Given the description of an element on the screen output the (x, y) to click on. 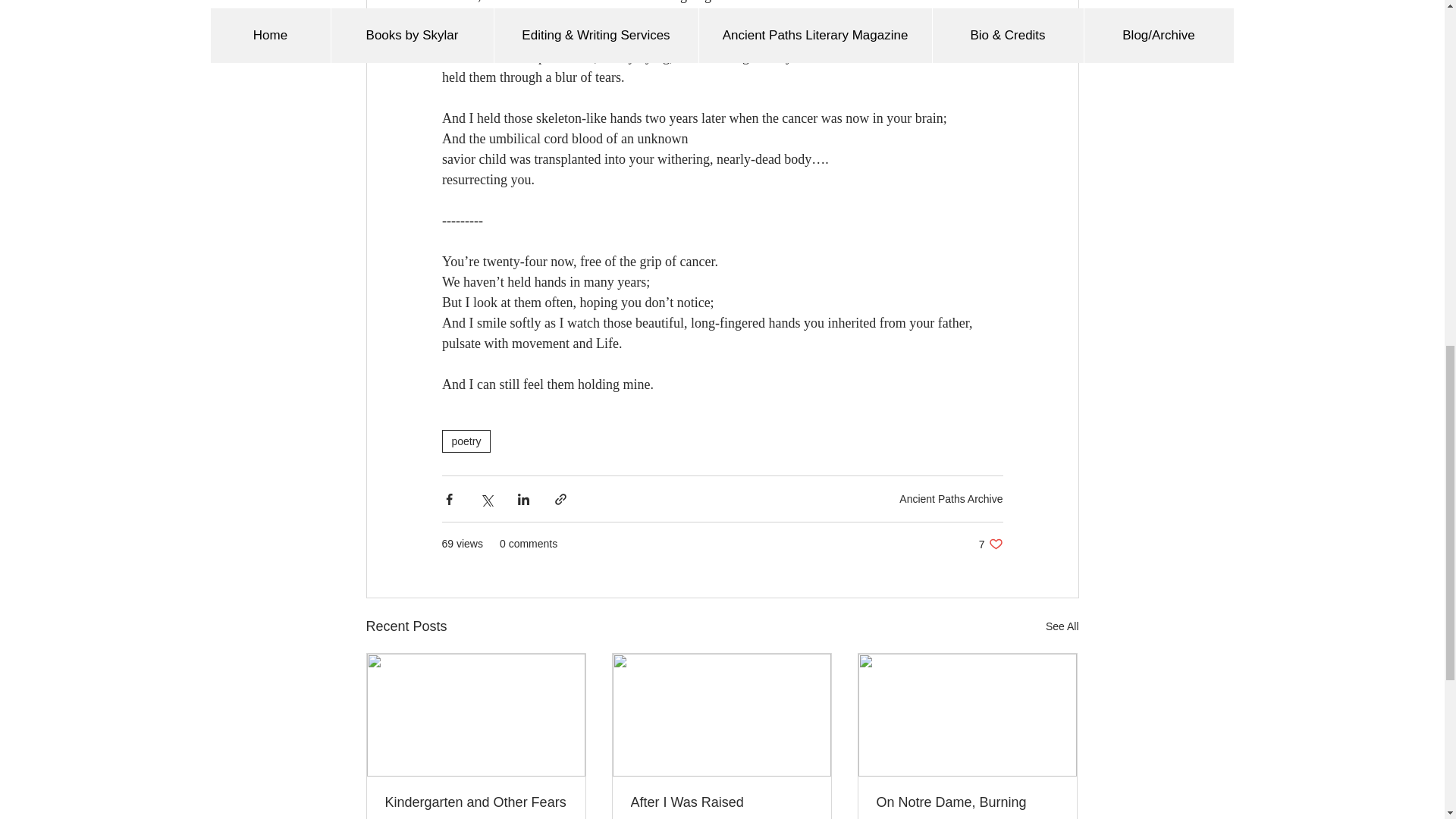
After I Was Raised (721, 802)
Ancient Paths Archive (951, 499)
poetry (465, 440)
Kindergarten and Other Fears (476, 802)
See All (1061, 626)
